Given the description of an element on the screen output the (x, y) to click on. 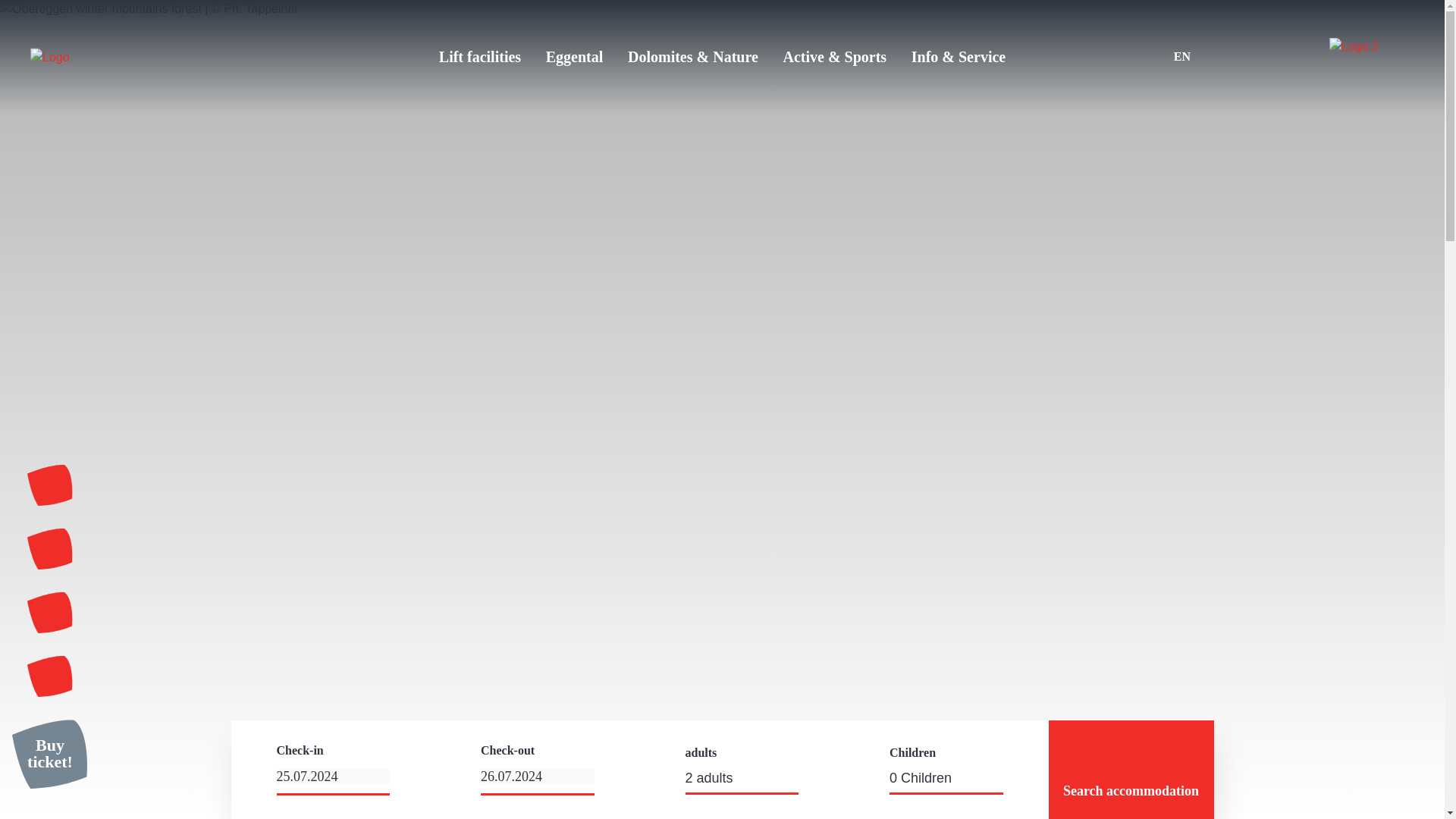
25.07.2024 (333, 776)
Lift facilities (480, 56)
Search accommodation (1130, 769)
26.07.2024 (537, 776)
Eggental (575, 56)
